Given the description of an element on the screen output the (x, y) to click on. 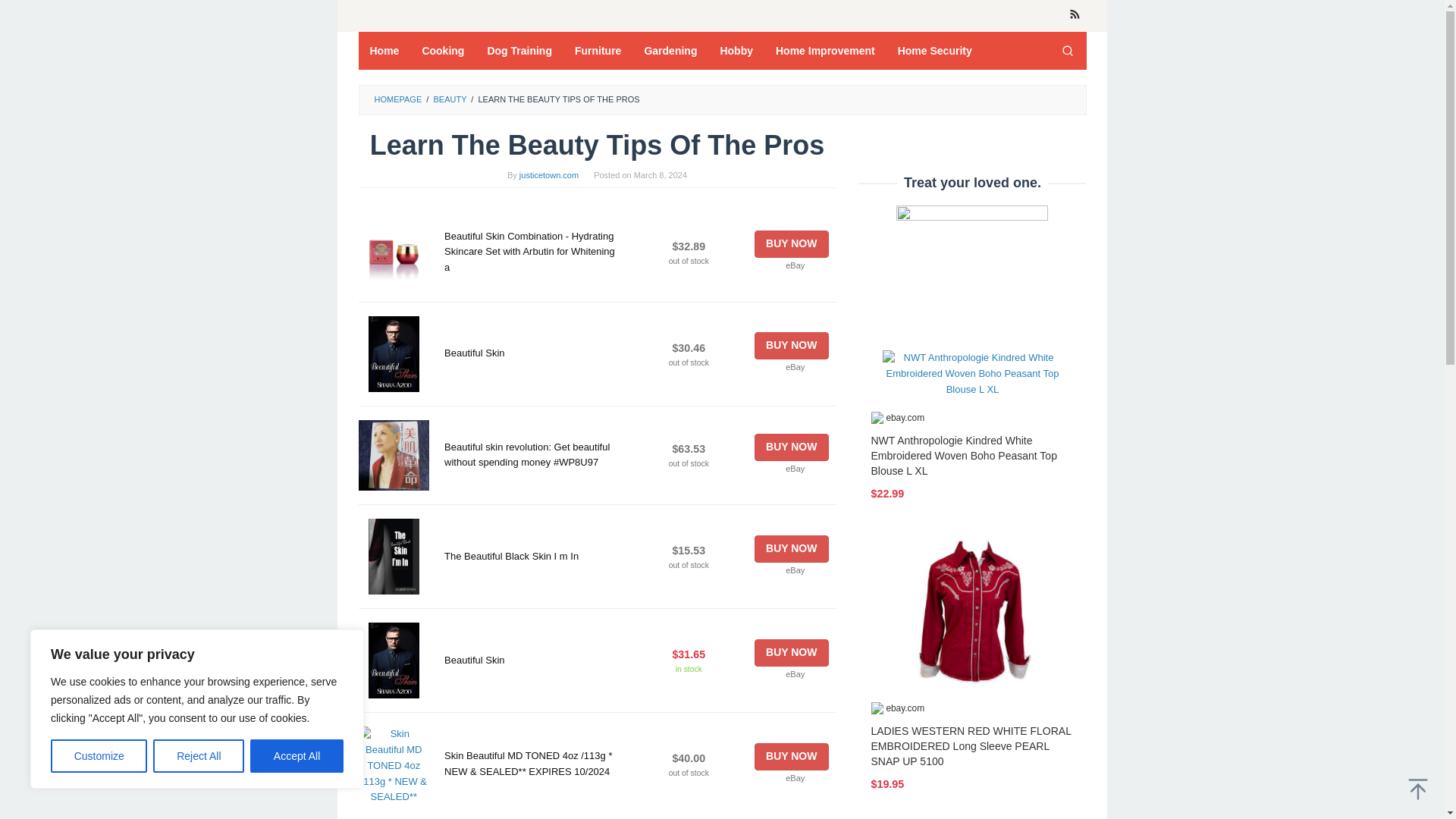
BUY NOW (791, 243)
Reject All (198, 756)
BEAUTY (448, 99)
justicetown.com (548, 174)
Last updated on July 24, 2024 10:30 pm (689, 463)
Last updated on July 24, 2024 10:30 pm (689, 362)
Dog Training (519, 50)
Furniture (597, 50)
Last updated on July 24, 2024 10:30 pm (689, 564)
Last updated on July 24, 2024 10:30 pm (689, 260)
Last updated on July 24, 2024 10:30 pm (689, 668)
BUY NOW (791, 345)
Home Improvement (825, 50)
Accept All (296, 756)
Customize (98, 756)
